Given the description of an element on the screen output the (x, y) to click on. 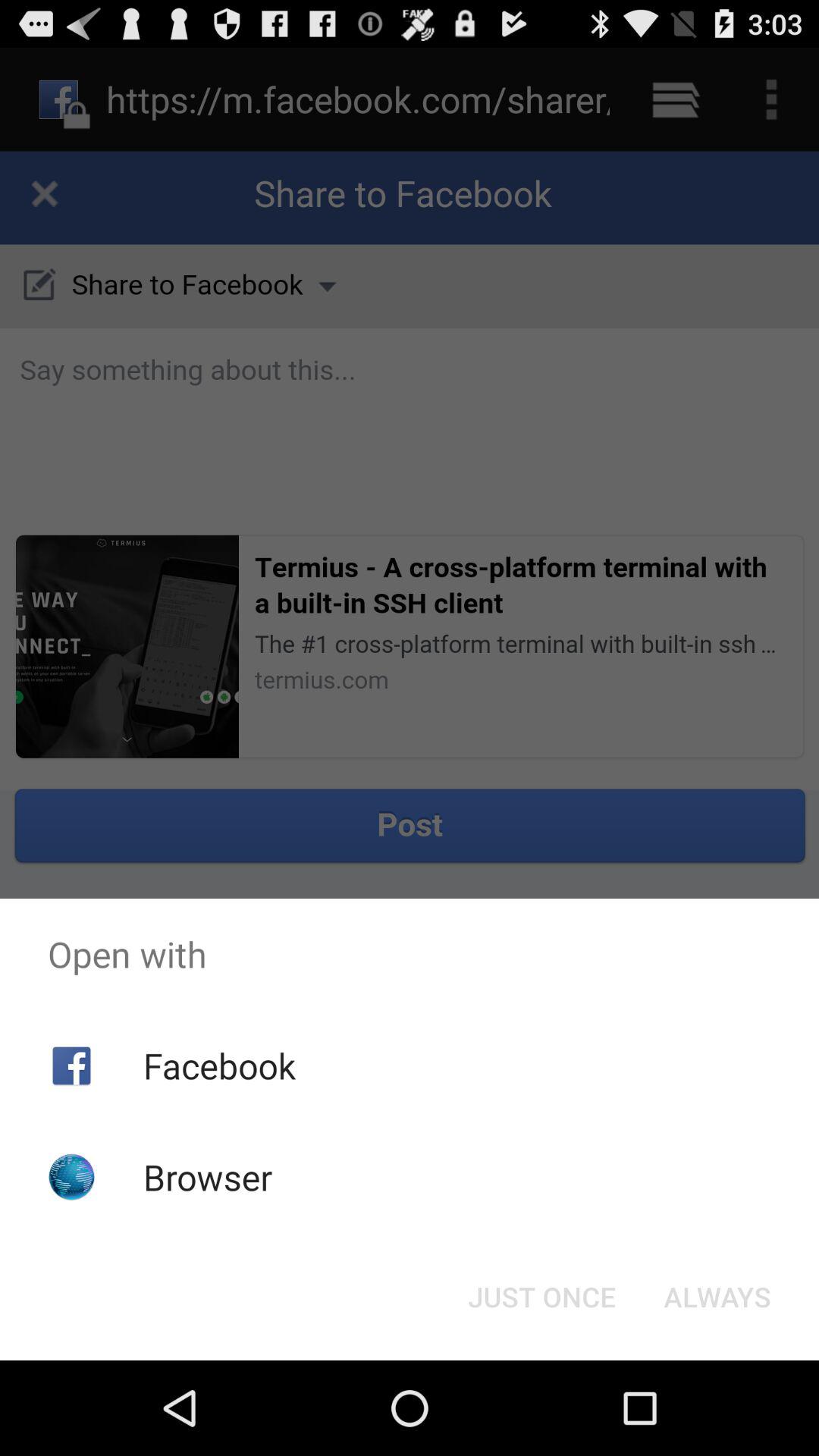
press just once item (541, 1296)
